Given the description of an element on the screen output the (x, y) to click on. 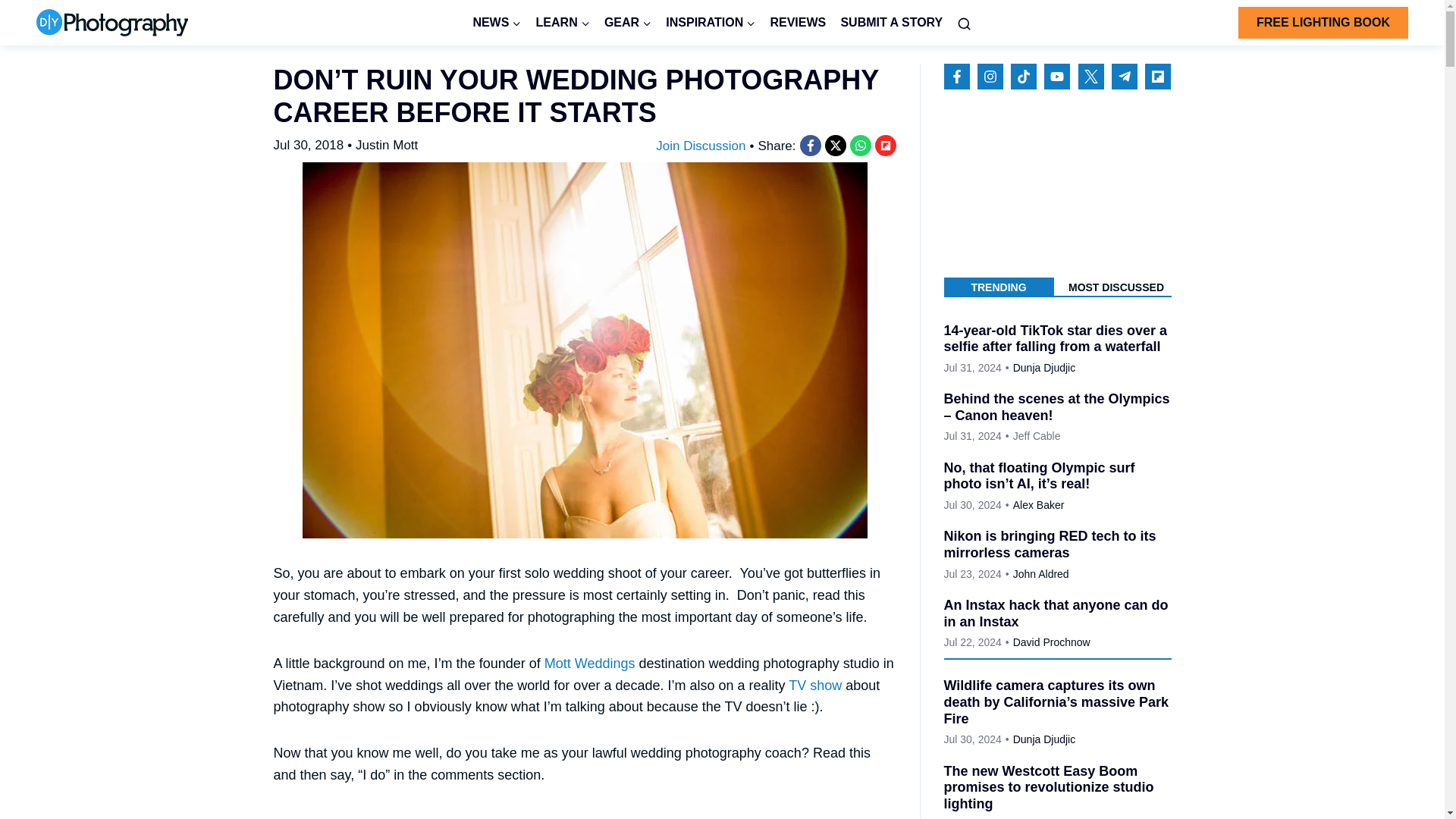
NEWS (496, 22)
